Given the description of an element on the screen output the (x, y) to click on. 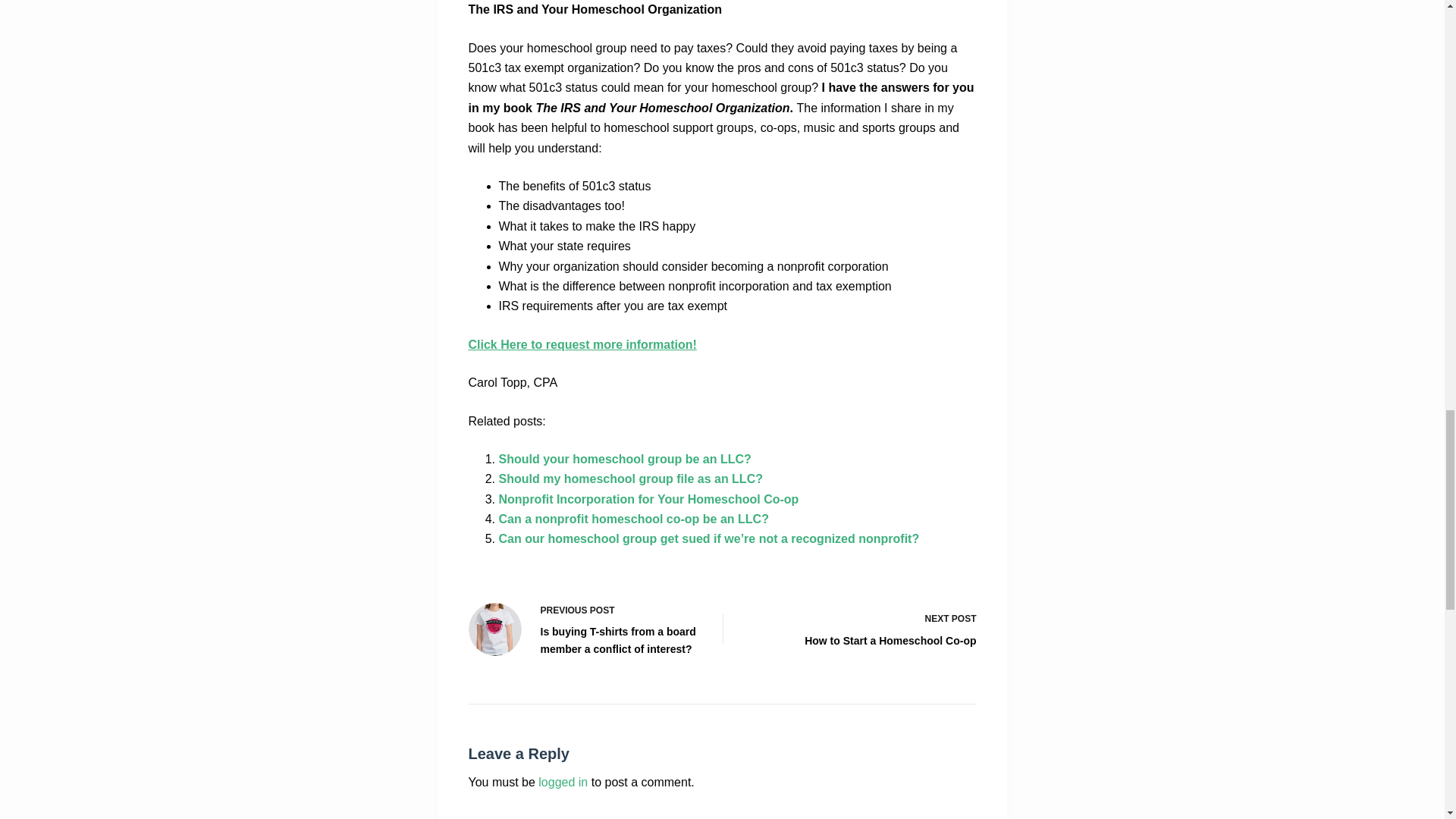
Should your homeschool group be an LLC? (625, 459)
Nonprofit Incorporation for Your Homeschool Co-op (649, 499)
Can a nonprofit homeschool co-op be an LLC? (633, 518)
Should my homeschool group file as an LLC? (630, 478)
